Given the description of an element on the screen output the (x, y) to click on. 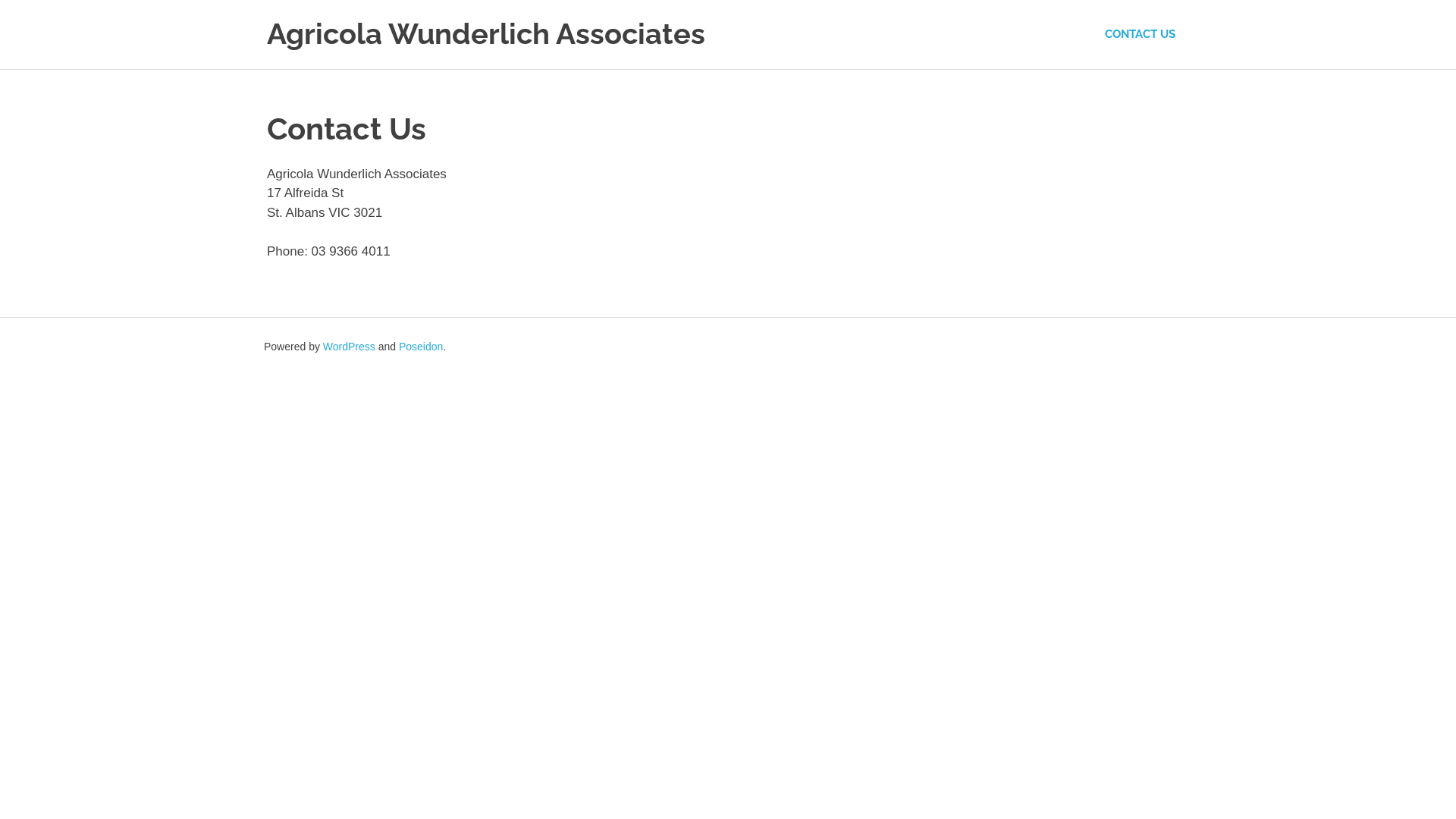
WordPress Element type: text (349, 345)
Skip to content Element type: text (0, 0)
Agricola Wunderlich Associates Element type: text (485, 39)
Poseidon Element type: text (420, 345)
CONTACT US Element type: text (1140, 34)
